Given the description of an element on the screen output the (x, y) to click on. 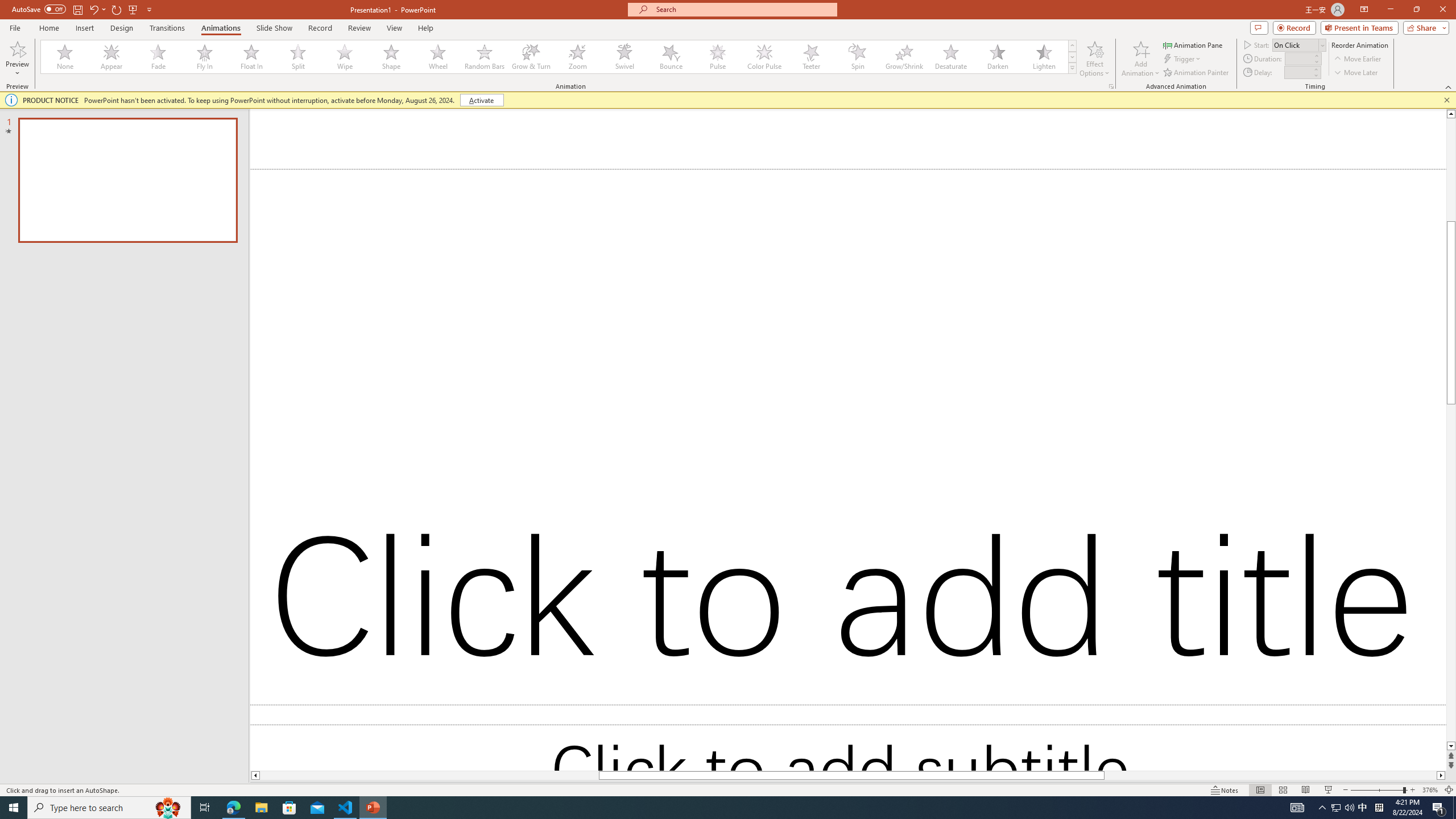
Bounce (670, 56)
Move Later (1355, 72)
Animation Painter (1196, 72)
Pulse (717, 56)
